Given the description of an element on the screen output the (x, y) to click on. 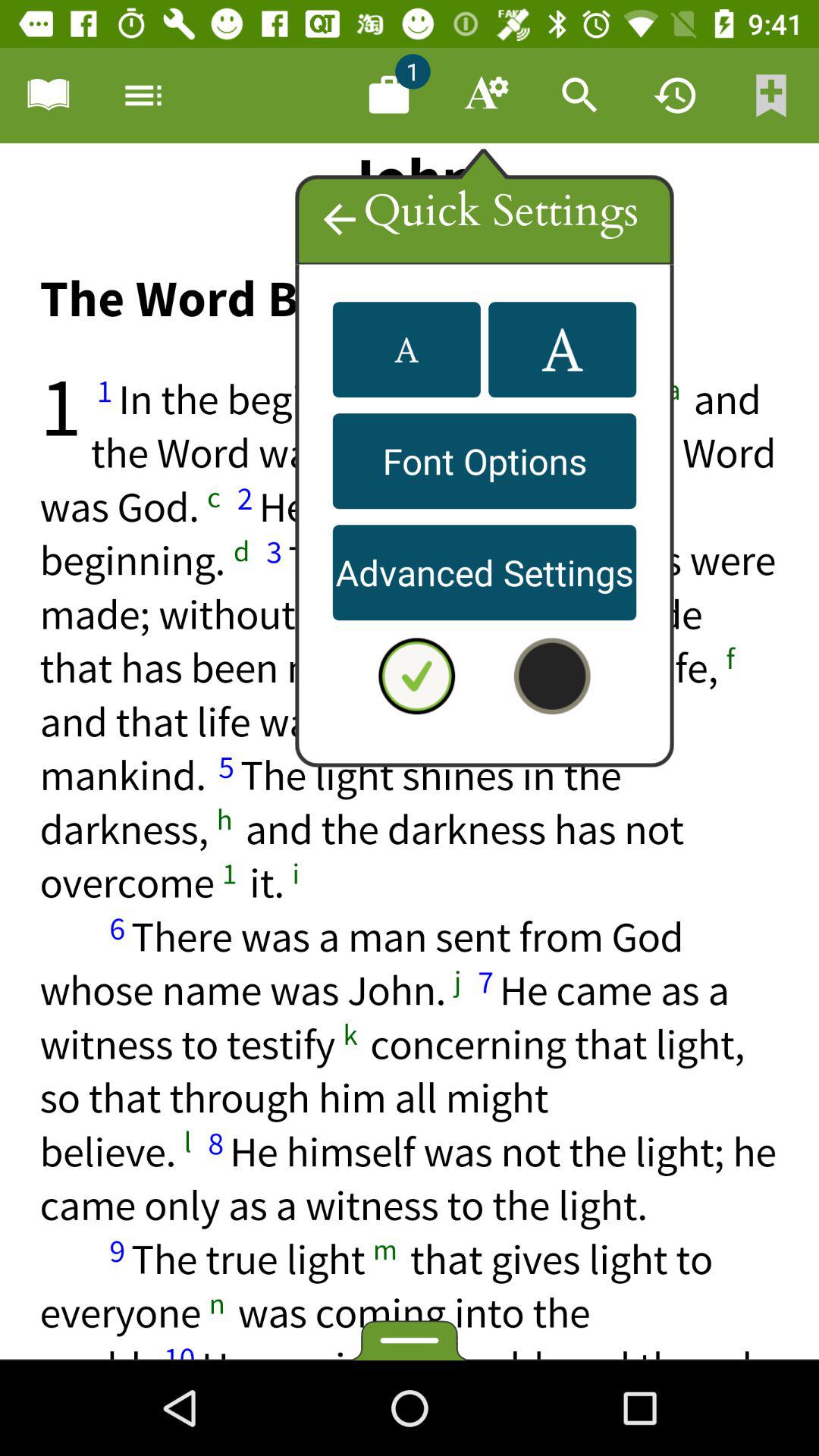
goto message (388, 95)
